Given the description of an element on the screen output the (x, y) to click on. 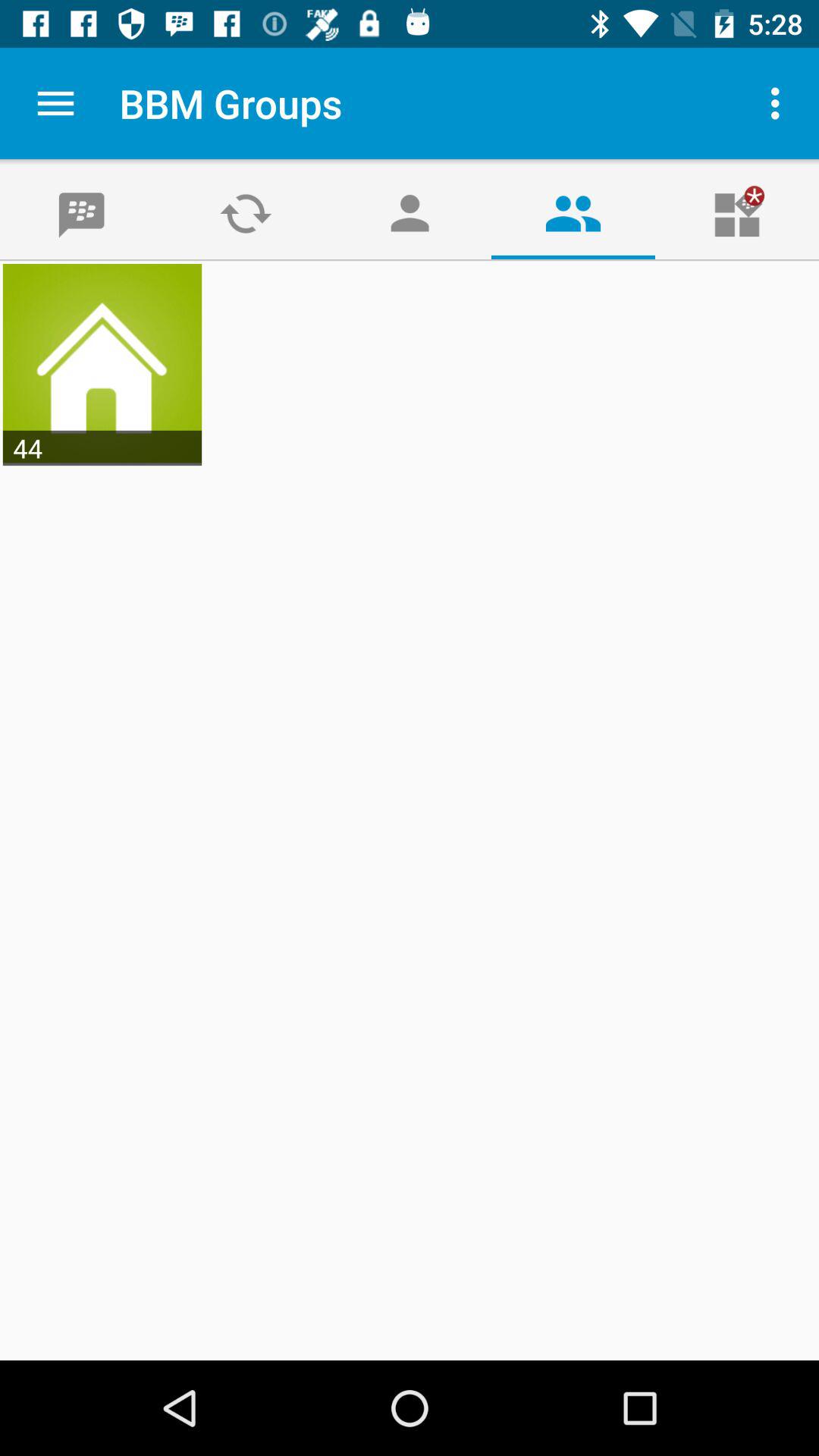
turn off the app next to the bbm groups item (55, 103)
